Given the description of an element on the screen output the (x, y) to click on. 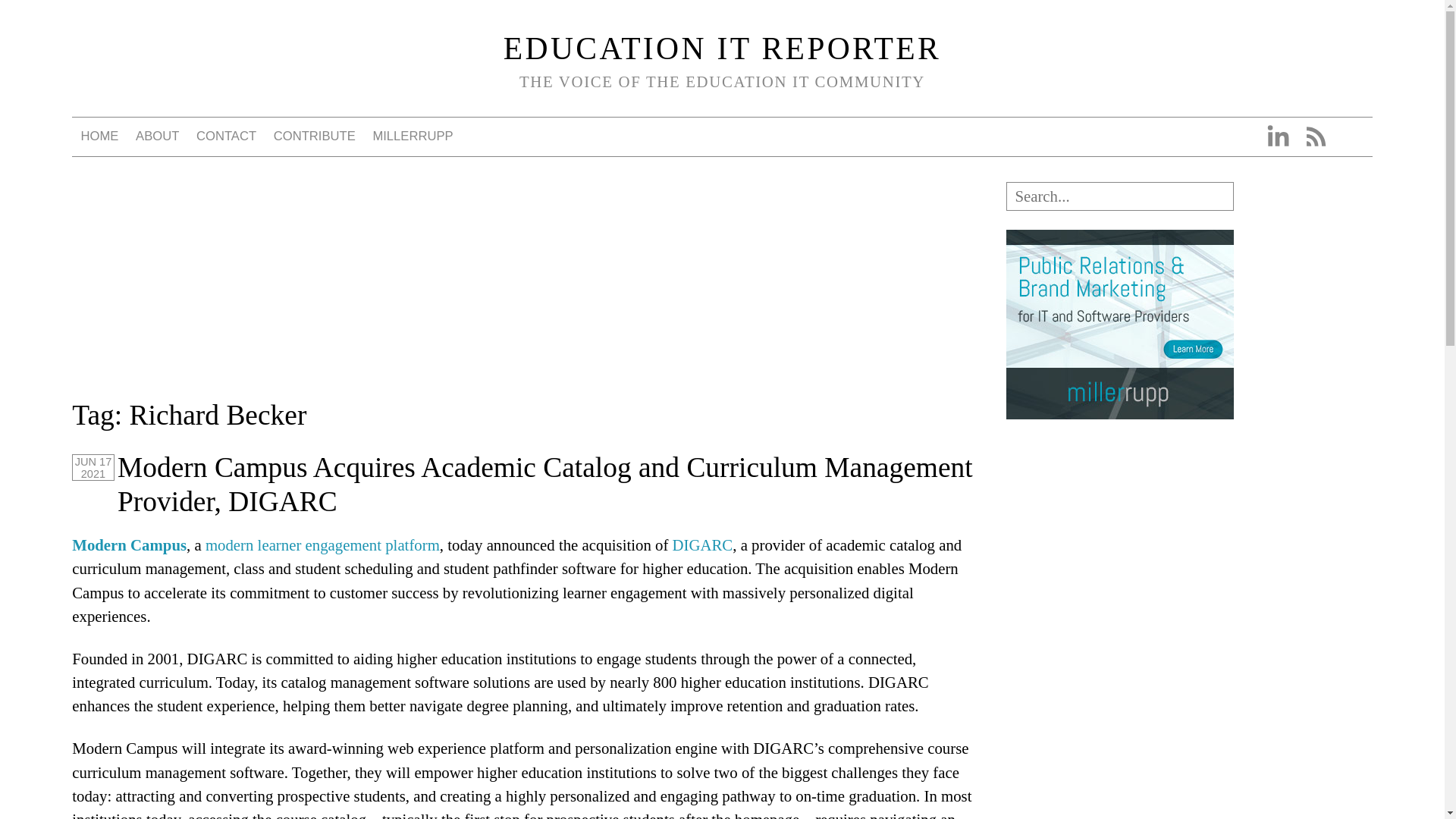
MILLERRUPP (413, 136)
Modern Campus (128, 544)
CONTRIBUTE (313, 136)
DIGARC (702, 544)
June 17, 2021 9:39 am (92, 467)
modern learner engagement platform (322, 544)
CONTACT (226, 136)
HOME (99, 136)
LINKEDIN (1277, 136)
ABOUT (157, 136)
RSS FEED (1315, 136)
EDUCATION IT REPORTER (721, 48)
